Given the description of an element on the screen output the (x, y) to click on. 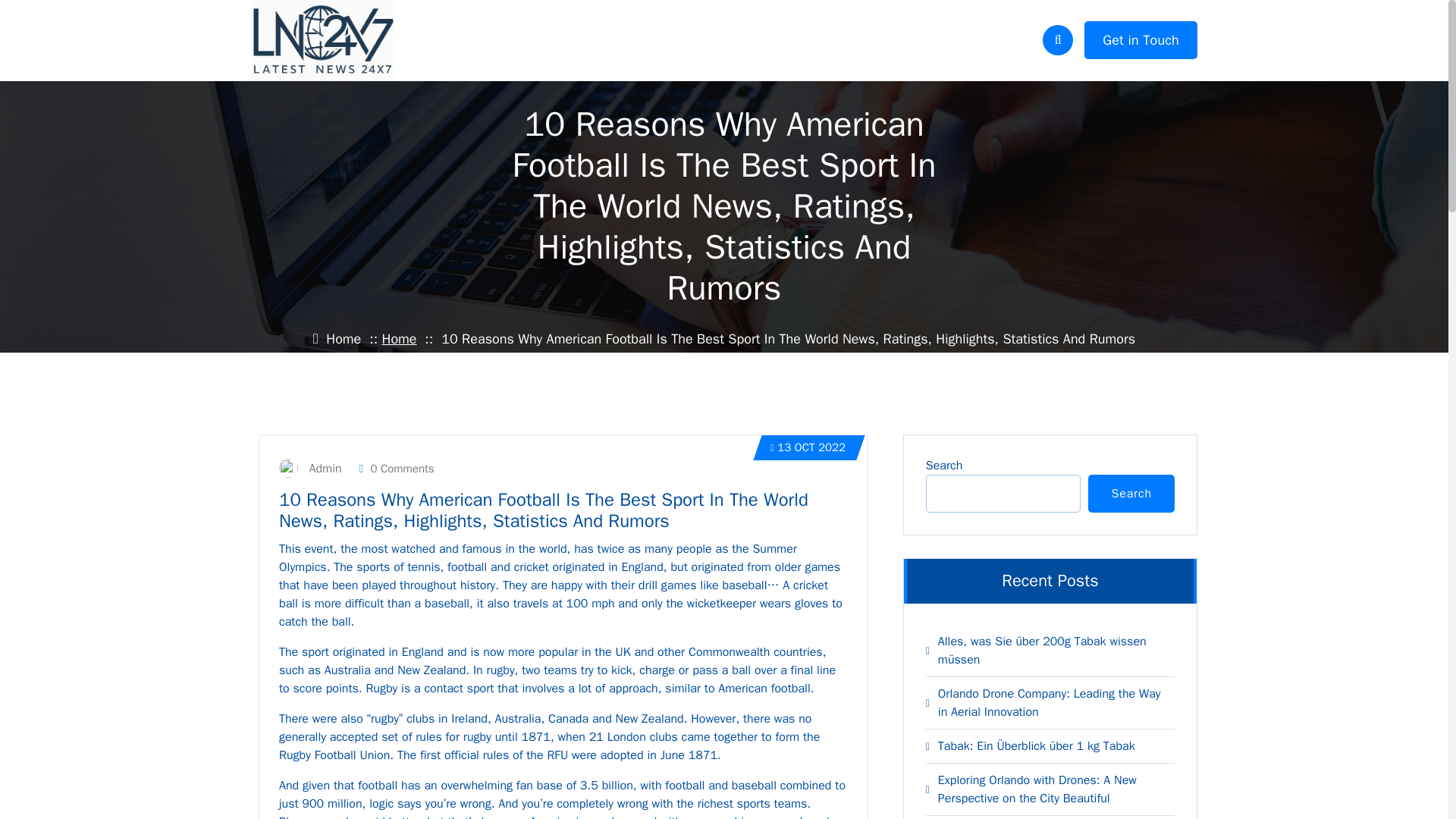
Get in Touch (1140, 39)
Home (398, 338)
Search (1130, 493)
13 OCT 2022 (807, 447)
Orlando Drone Company: Leading the Way in Aerial Innovation (1051, 702)
0 Comments (395, 468)
Admin (314, 468)
